Given the description of an element on the screen output the (x, y) to click on. 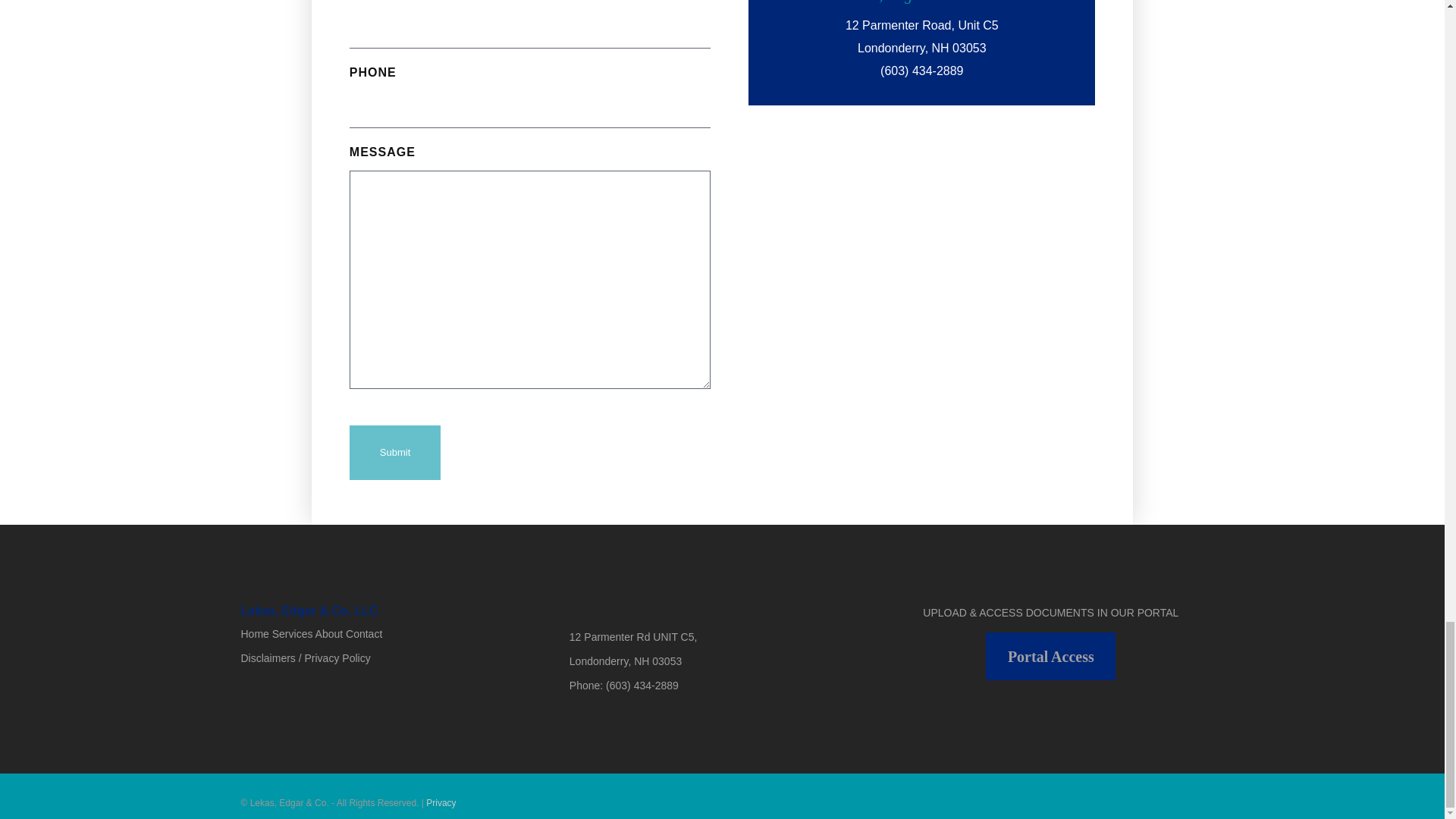
Home (255, 633)
Submit (395, 452)
About (329, 633)
Submit (395, 452)
Services (292, 633)
Portal Access (1050, 656)
Contact (363, 633)
